Given the description of an element on the screen output the (x, y) to click on. 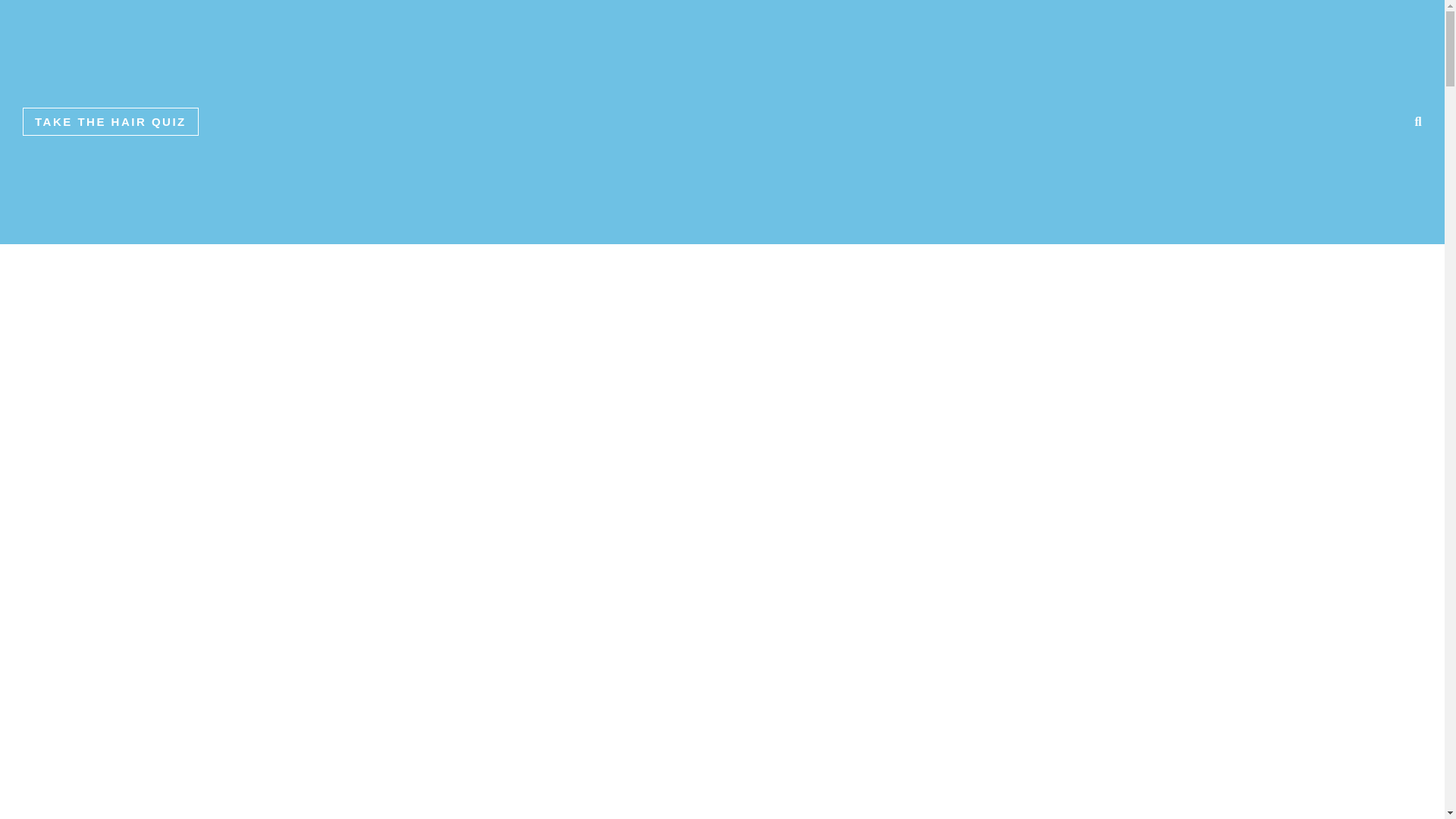
TAKE THE HAIR QUIZ (110, 121)
